Given the description of an element on the screen output the (x, y) to click on. 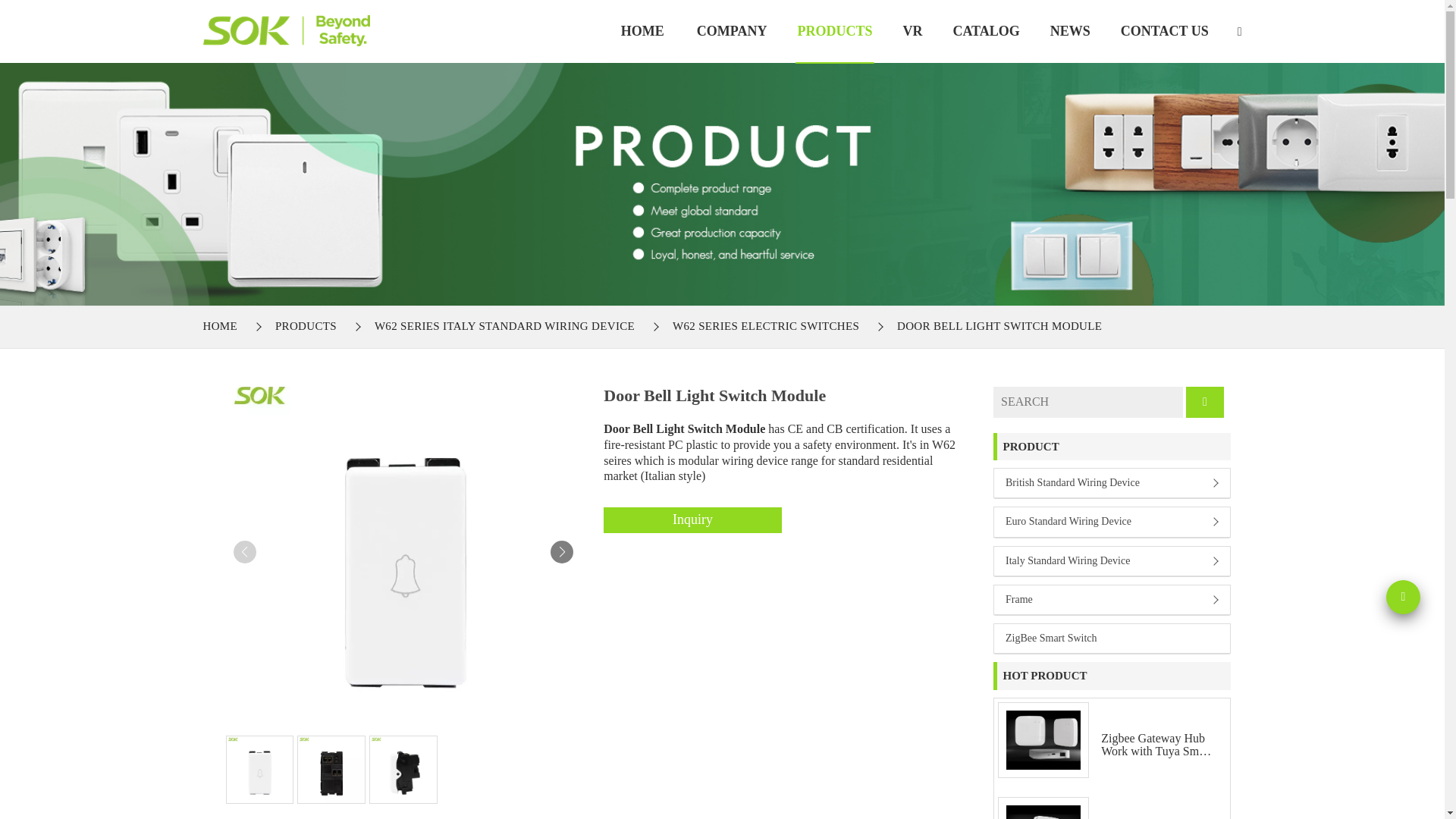
CATALOG (985, 31)
NEWS (1070, 31)
W62 SERIES ITALY STANDARD WIRING DEVICE (504, 326)
Door Bell Light Switch Module-W62 Series Electric Switches (286, 29)
Door Bell Light Switch Module-W62 Series Electric Switches (642, 31)
PRODUCTS (833, 31)
VR (911, 31)
Company (732, 31)
COMPANY (732, 31)
PRODUCTS (305, 326)
